Given the description of an element on the screen output the (x, y) to click on. 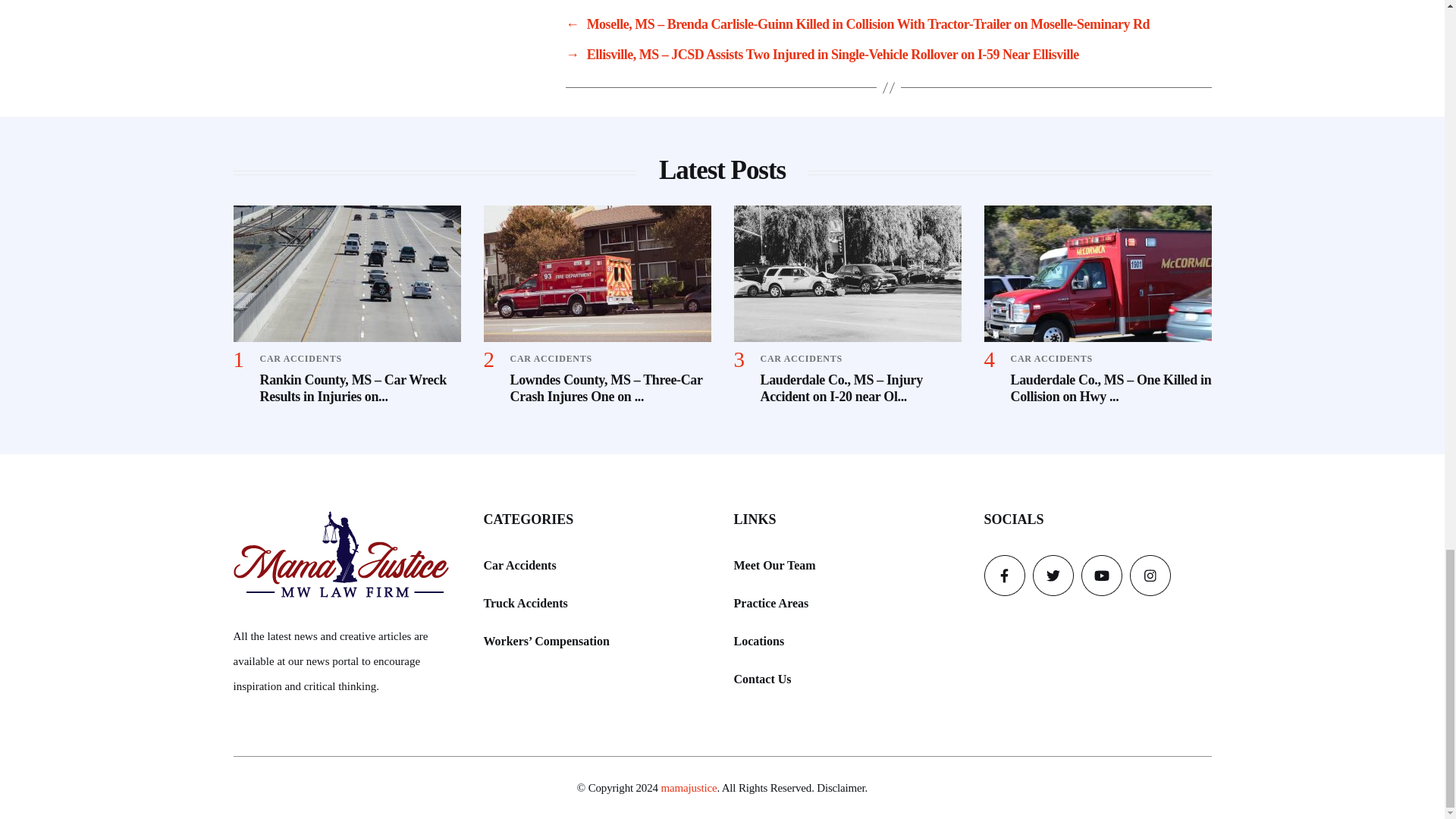
CAR ACCIDENTS (1051, 357)
CAR ACCIDENTS (800, 357)
CAR ACCIDENTS (550, 357)
CAR ACCIDENTS (299, 357)
Car Accidents (519, 565)
Truck Accidents (525, 602)
